Given the description of an element on the screen output the (x, y) to click on. 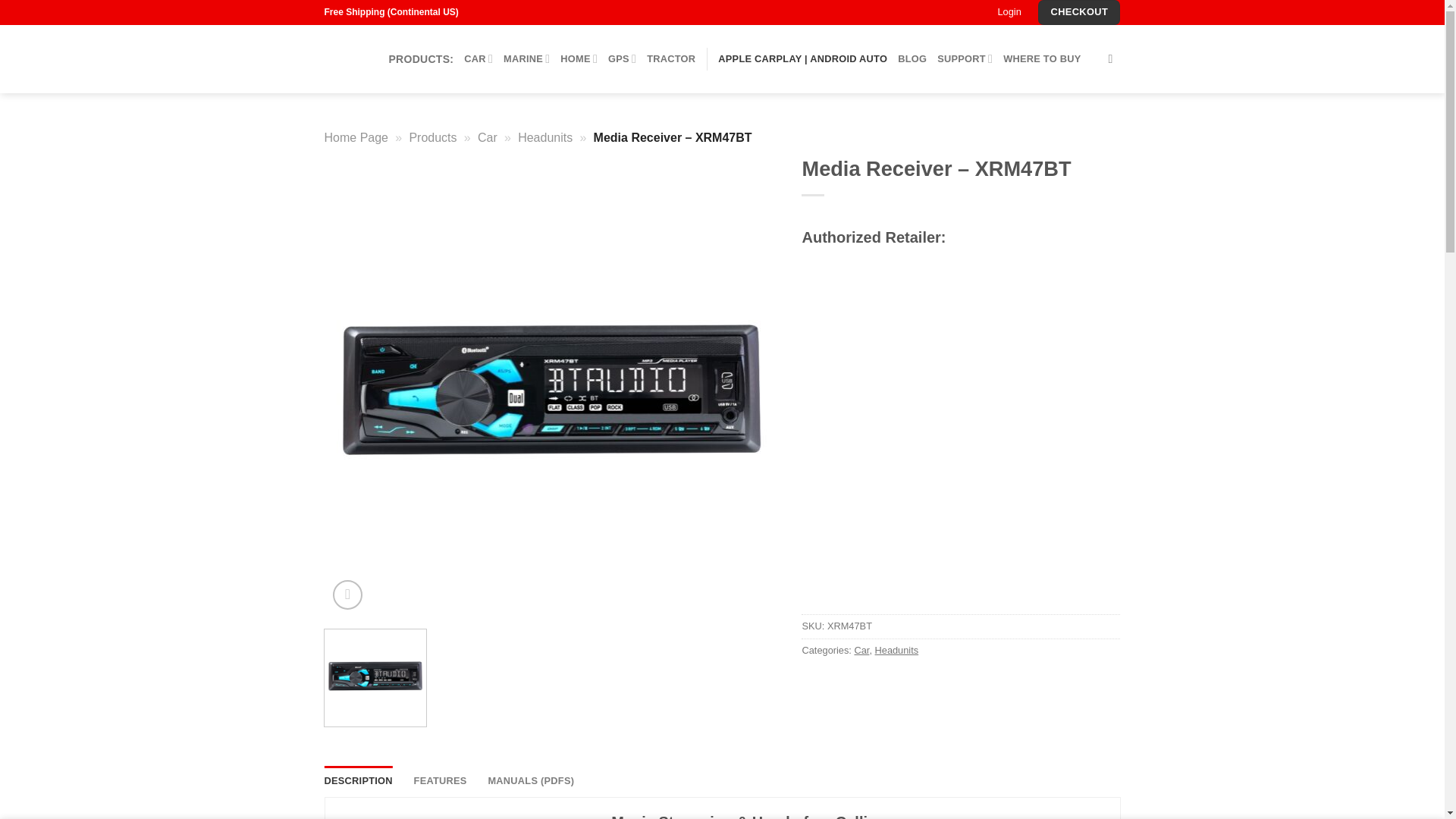
Login (1008, 12)
CAR (478, 58)
Dual Electronics (345, 58)
PRODUCTS: (420, 58)
TRACTOR (670, 58)
Login (1008, 12)
GPS (622, 58)
CHECKOUT (1078, 12)
BLOG (912, 58)
HOME (578, 58)
MARINE (526, 58)
SUPPORT (964, 58)
Zoom (347, 594)
